Given the description of an element on the screen output the (x, y) to click on. 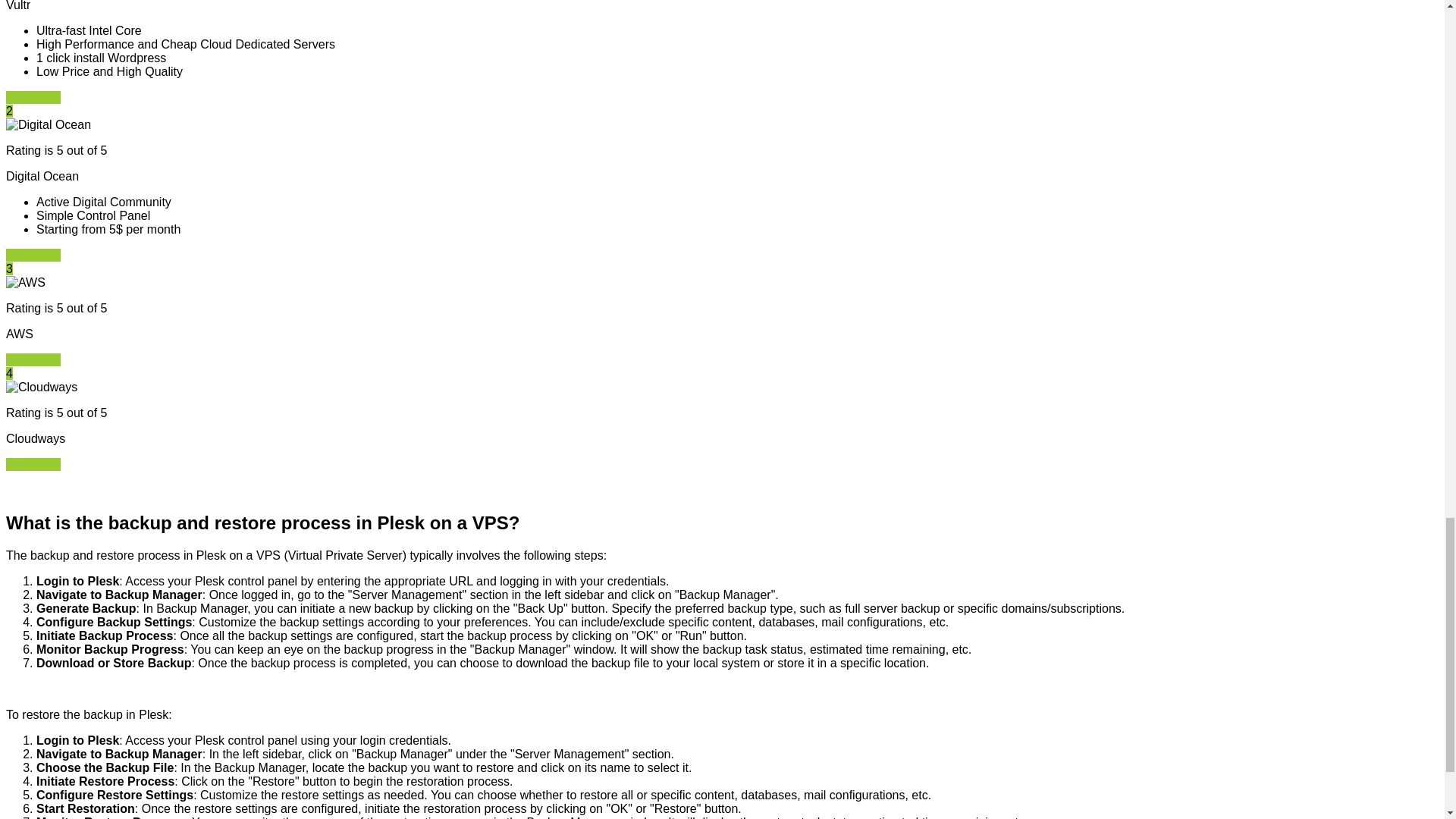
Try It Now (33, 97)
Try It Now (33, 463)
Try It Now (33, 254)
Try It Now (33, 359)
